Given the description of an element on the screen output the (x, y) to click on. 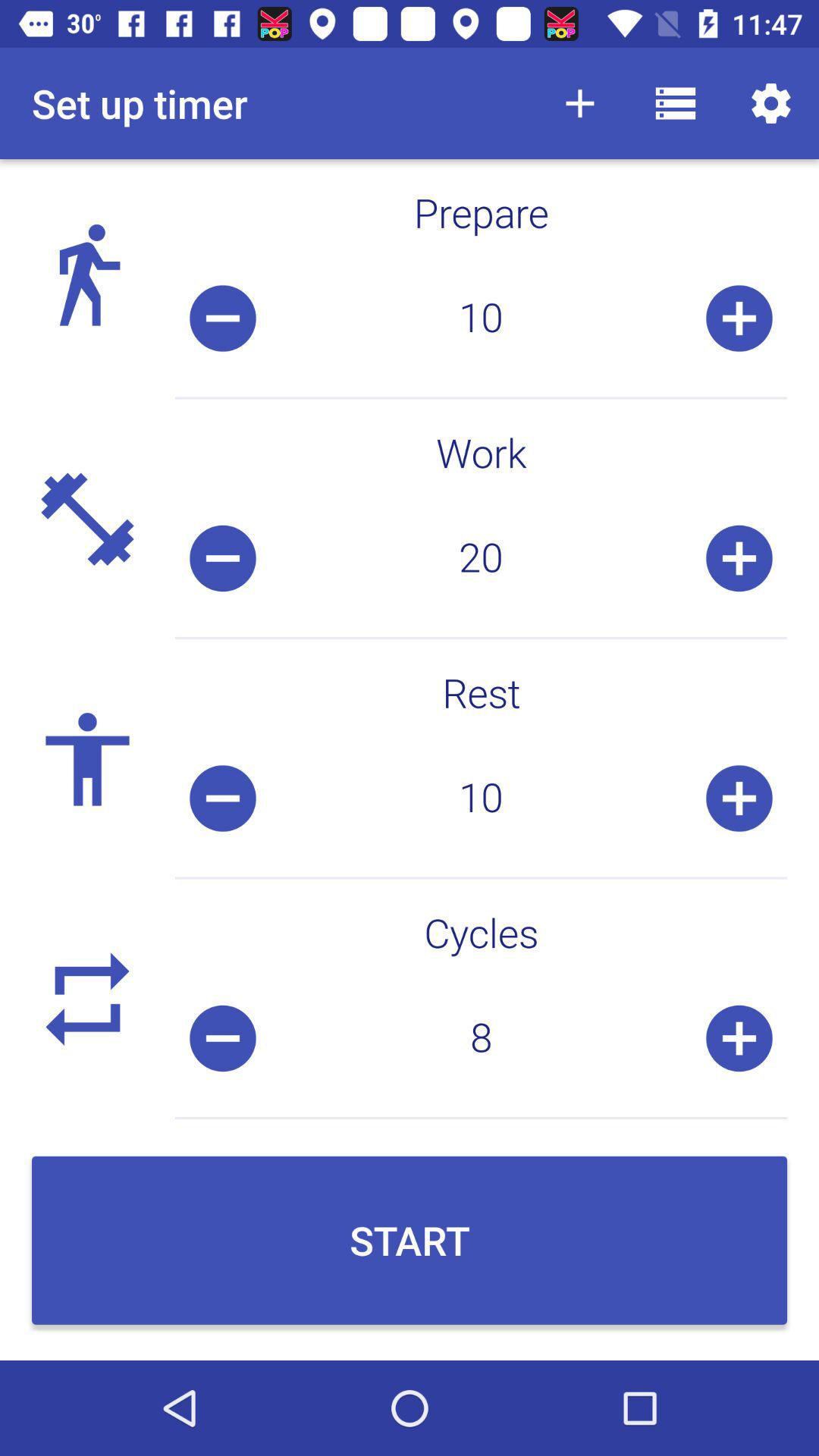
jump until the 8 icon (480, 1038)
